Given the description of an element on the screen output the (x, y) to click on. 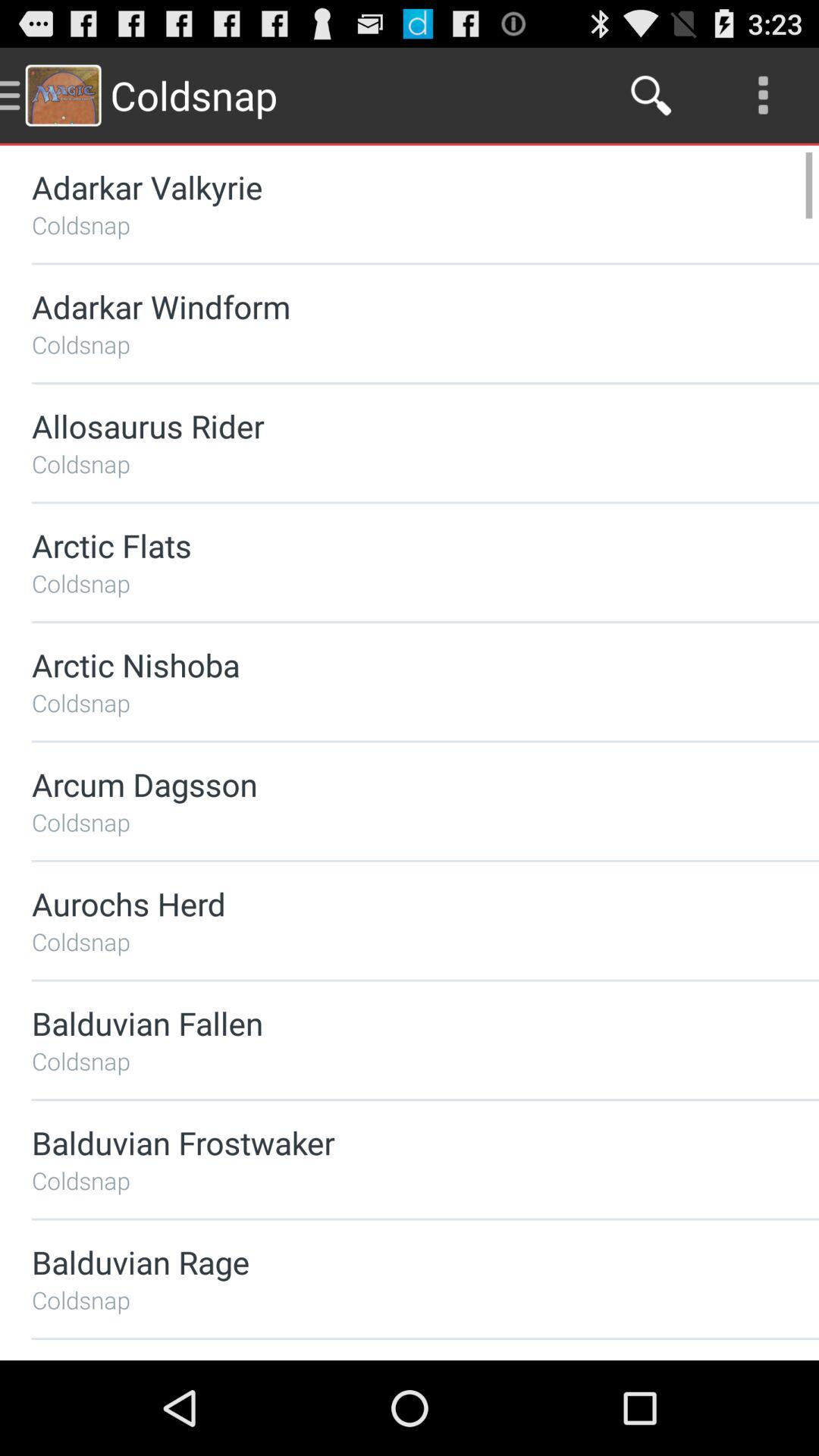
jump until the balduvian frostwaker (385, 1142)
